Given the description of an element on the screen output the (x, y) to click on. 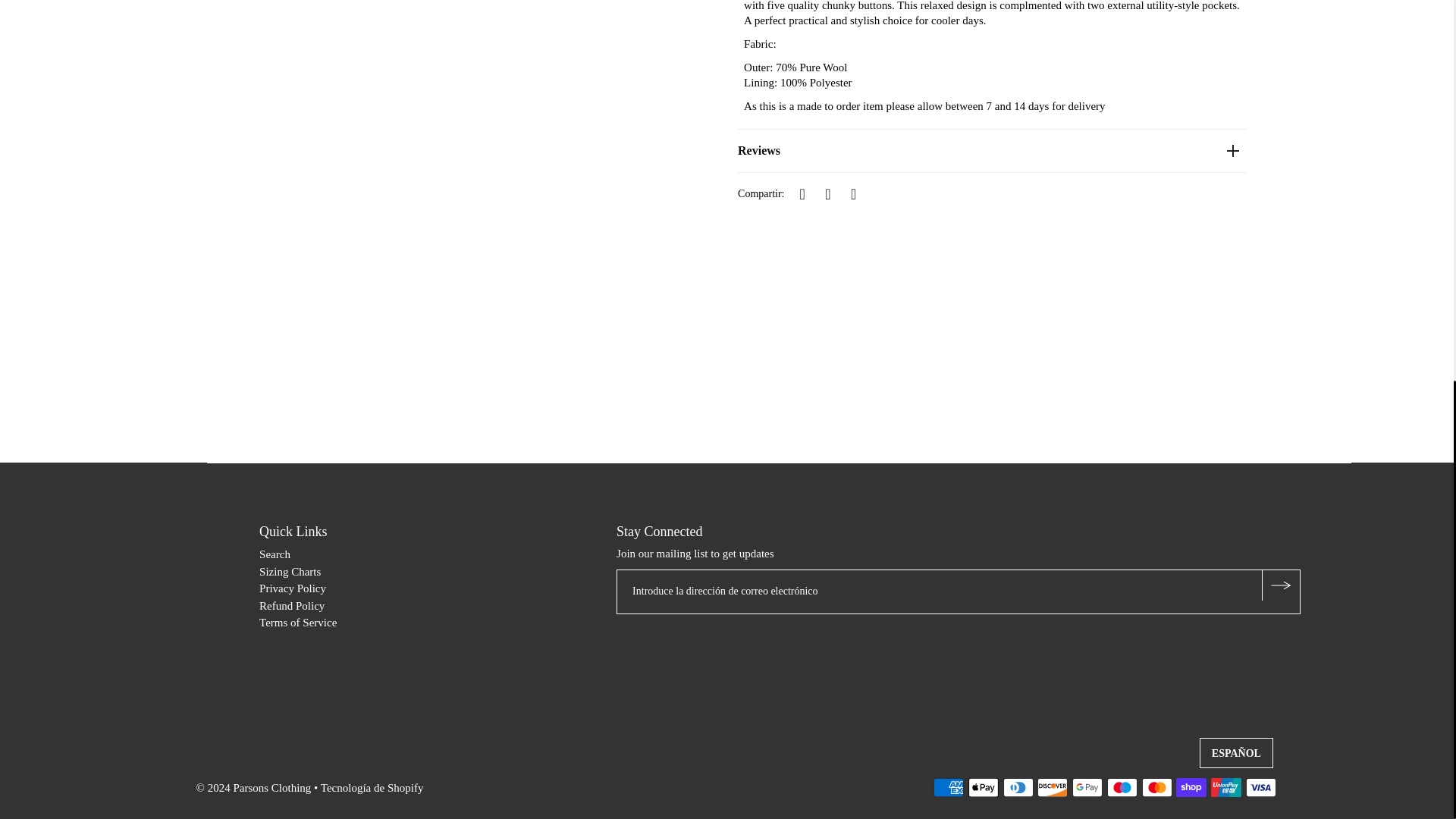
Google Pay (1086, 787)
Discover (1051, 787)
American Express (948, 787)
Compartir en Pinterest (853, 192)
Apple Pay (983, 787)
Mastercard (1156, 787)
Shop Pay (1191, 787)
Diners Club (1018, 787)
Union Pay (1226, 787)
Compartir en Facebook (801, 192)
Maestro (1121, 787)
Compartir en Twitter (828, 192)
Visa (1261, 787)
